Given the description of an element on the screen output the (x, y) to click on. 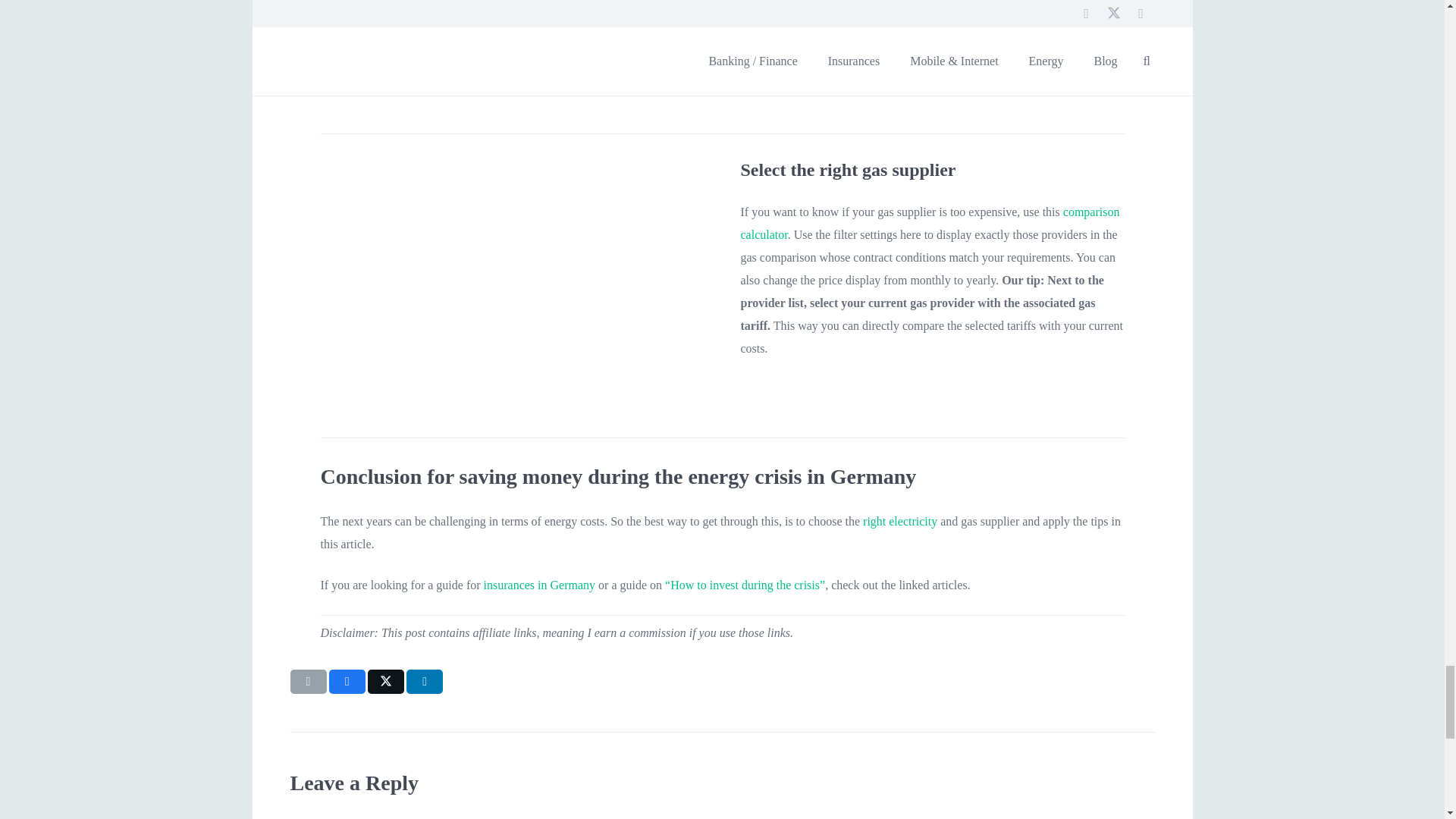
Share this (424, 681)
Share this (347, 681)
Tweet this (386, 681)
Email this (307, 681)
